Given the description of an element on the screen output the (x, y) to click on. 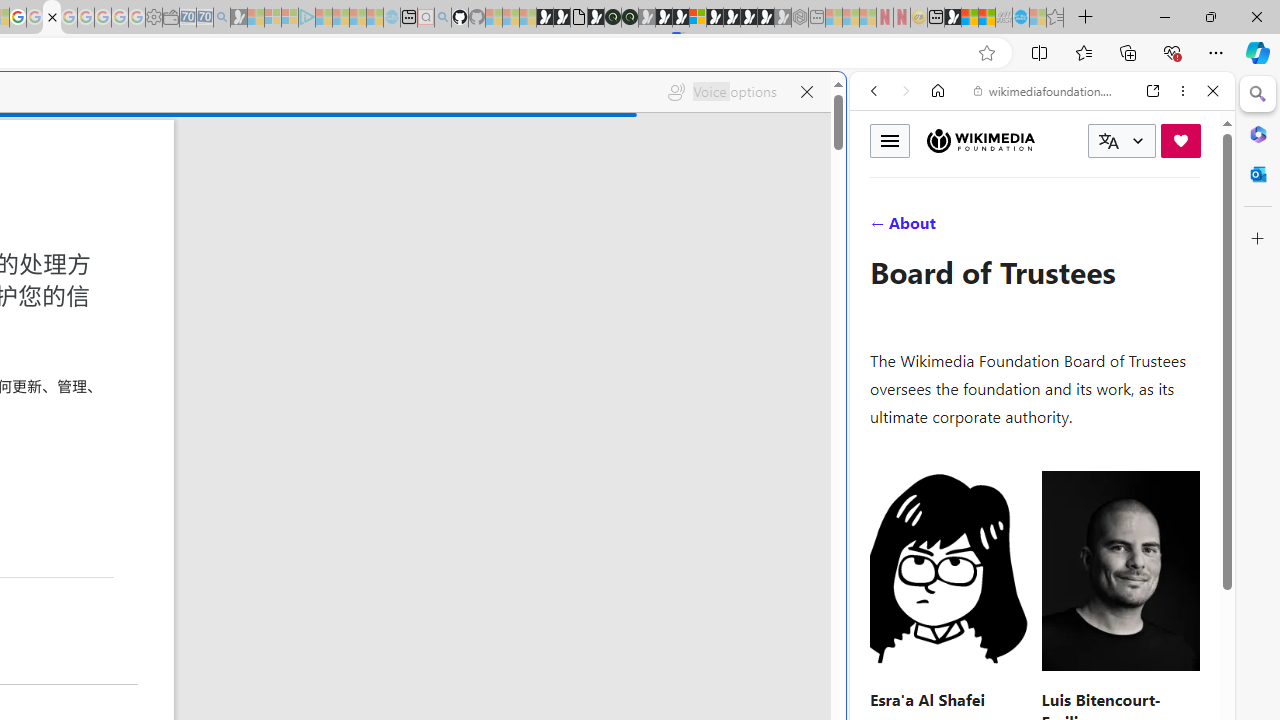
Esra'a Al Shafei (927, 698)
Toggle menu (890, 140)
Close read aloud (805, 92)
